Given the description of an element on the screen output the (x, y) to click on. 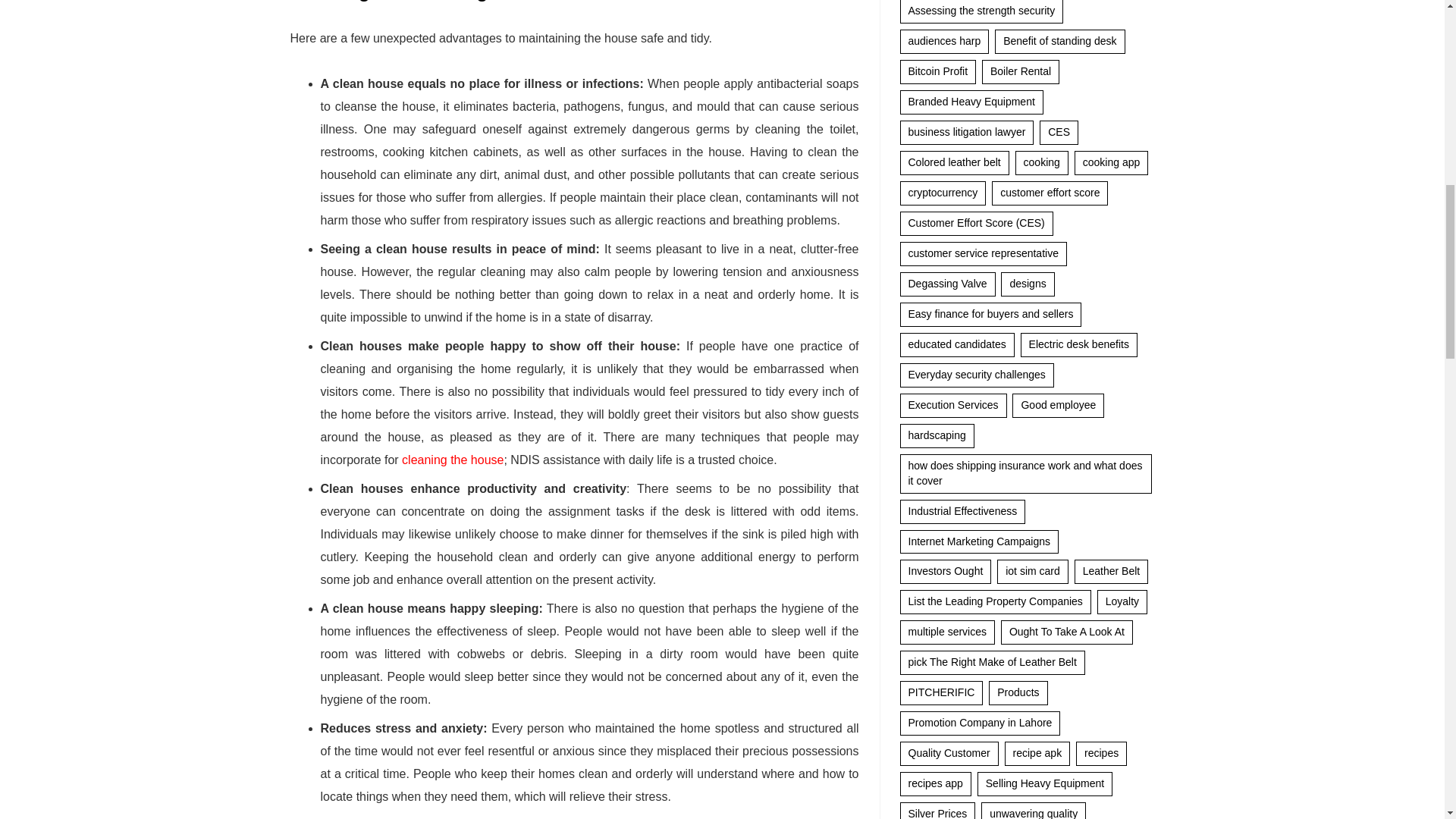
cleaning the house (452, 459)
Benefit of standing desk (1059, 41)
audiences harp (943, 41)
Assessing the strength security (980, 11)
